Given the description of an element on the screen output the (x, y) to click on. 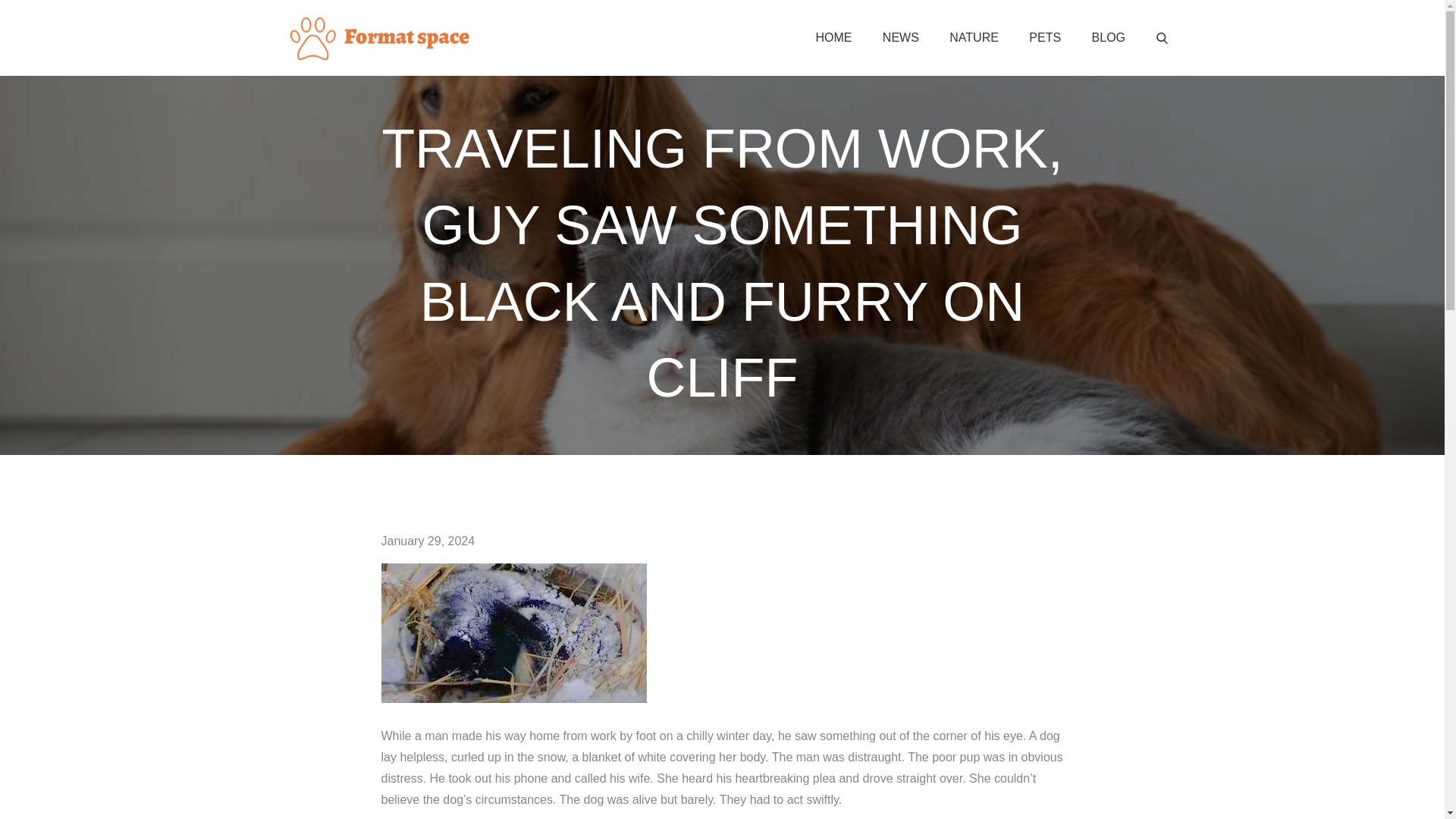
Format space (560, 52)
January 29, 2024 (427, 540)
NATURE (973, 38)
